Given the description of an element on the screen output the (x, y) to click on. 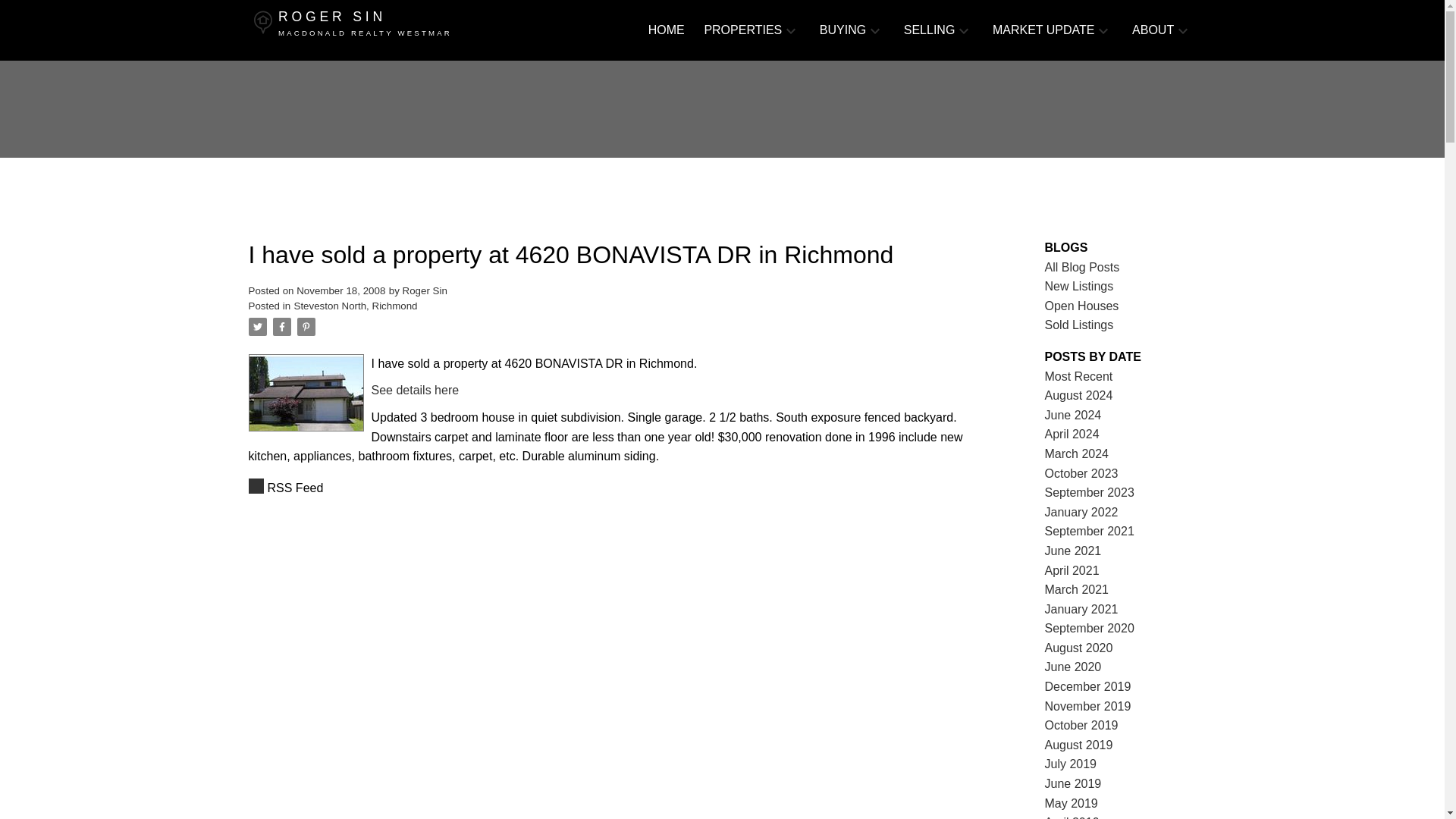
New Listings (1079, 286)
Steveston North, Richmond (355, 306)
HOME (665, 30)
See details here (398, 30)
All Blog Posts (415, 390)
RSS (1082, 267)
